Given the description of an element on the screen output the (x, y) to click on. 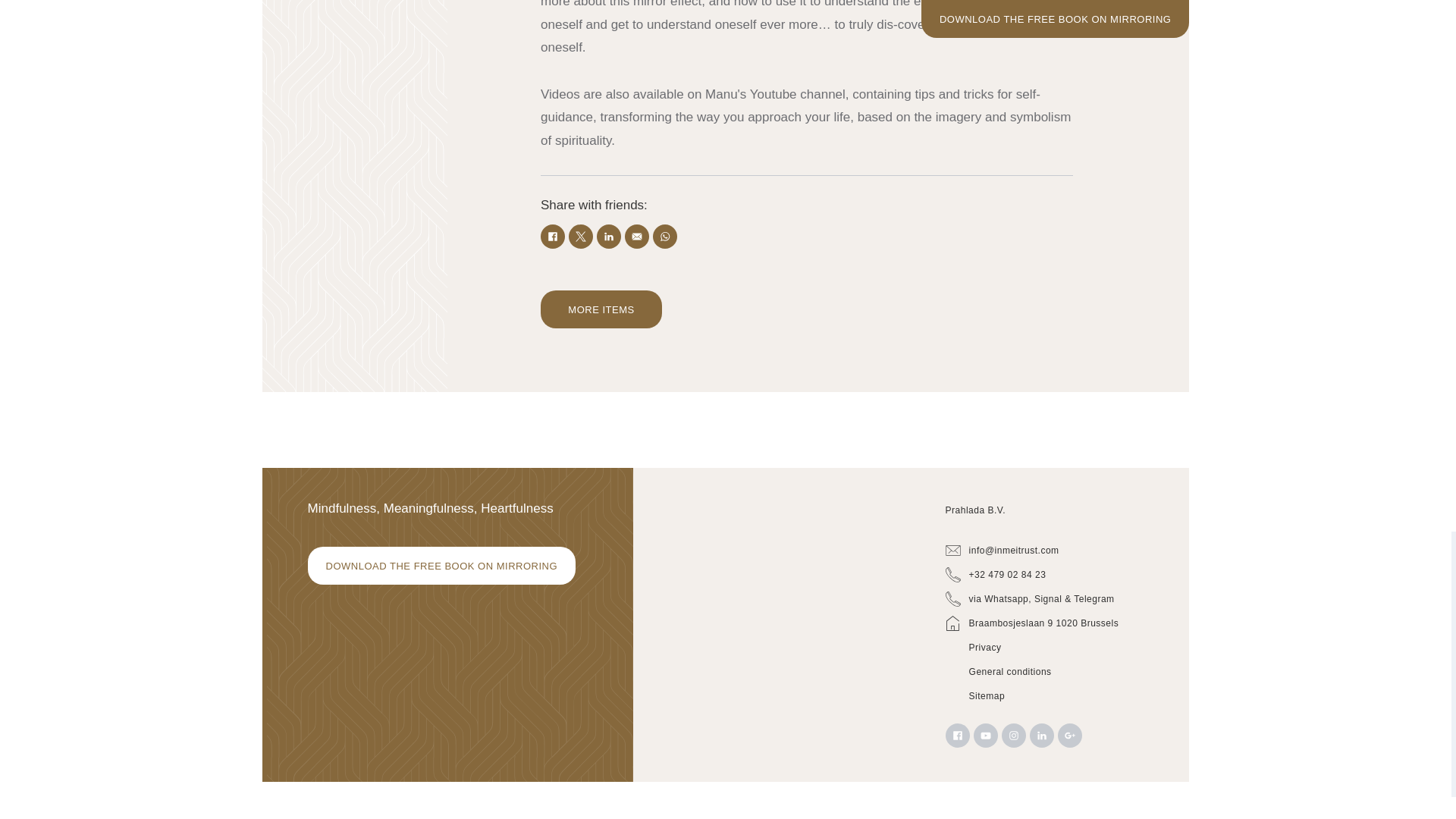
Privacy (1050, 647)
General conditions (1050, 671)
Sitemap (1050, 695)
Share via whatsapp (664, 236)
Share via mail (636, 236)
Share via linkedin (608, 236)
MORE ITEMS (601, 309)
Braambosjeslaan 9 1020 Brussels (1050, 622)
DOWNLOAD THE FREE BOOK ON MIRRORING (441, 565)
Share via X (580, 236)
